Given the description of an element on the screen output the (x, y) to click on. 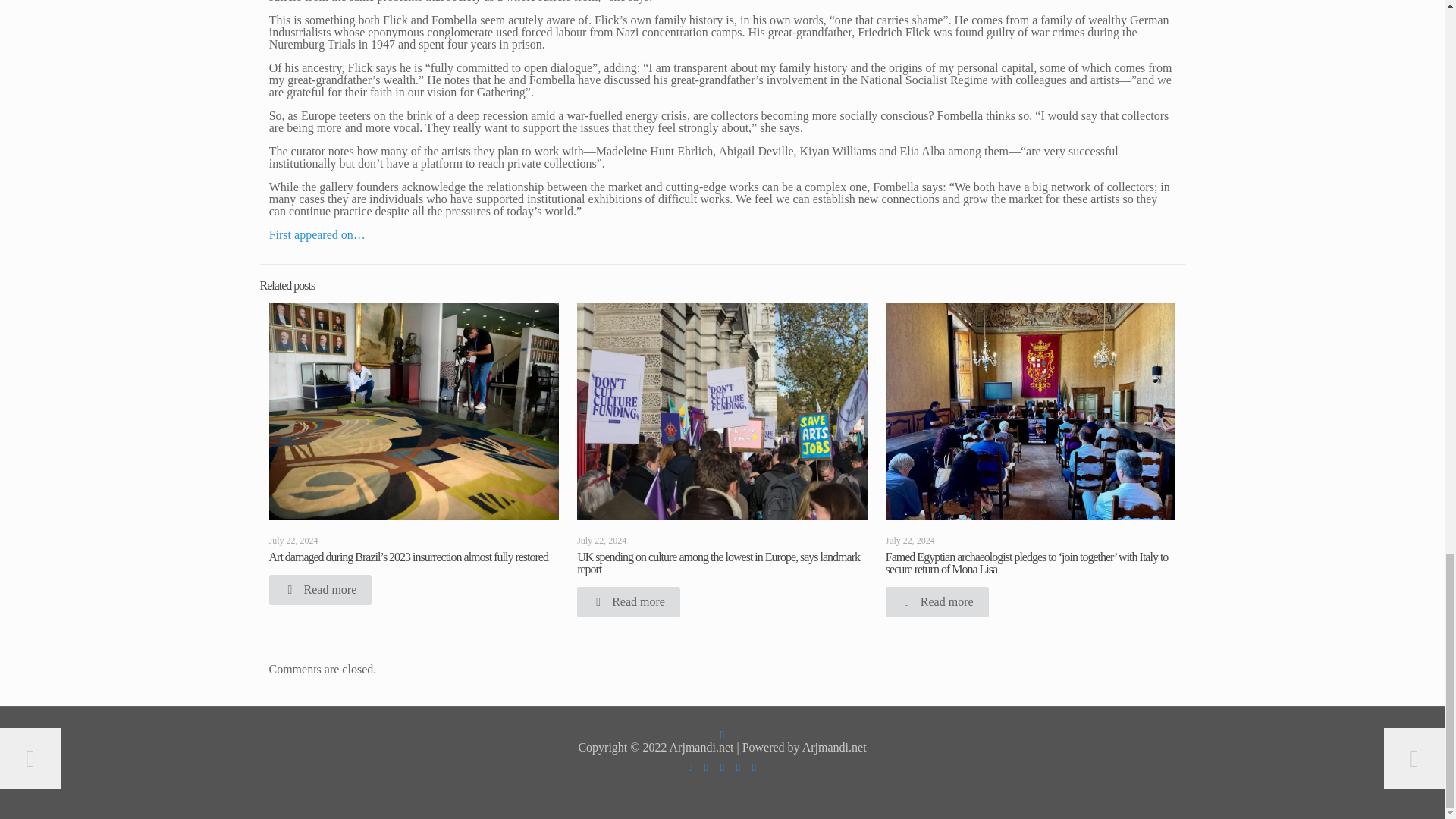
Facebook (689, 767)
YouTube (705, 767)
Read more (319, 589)
etsy (754, 767)
LinkedIn (722, 767)
Instagram (738, 767)
